Given the description of an element on the screen output the (x, y) to click on. 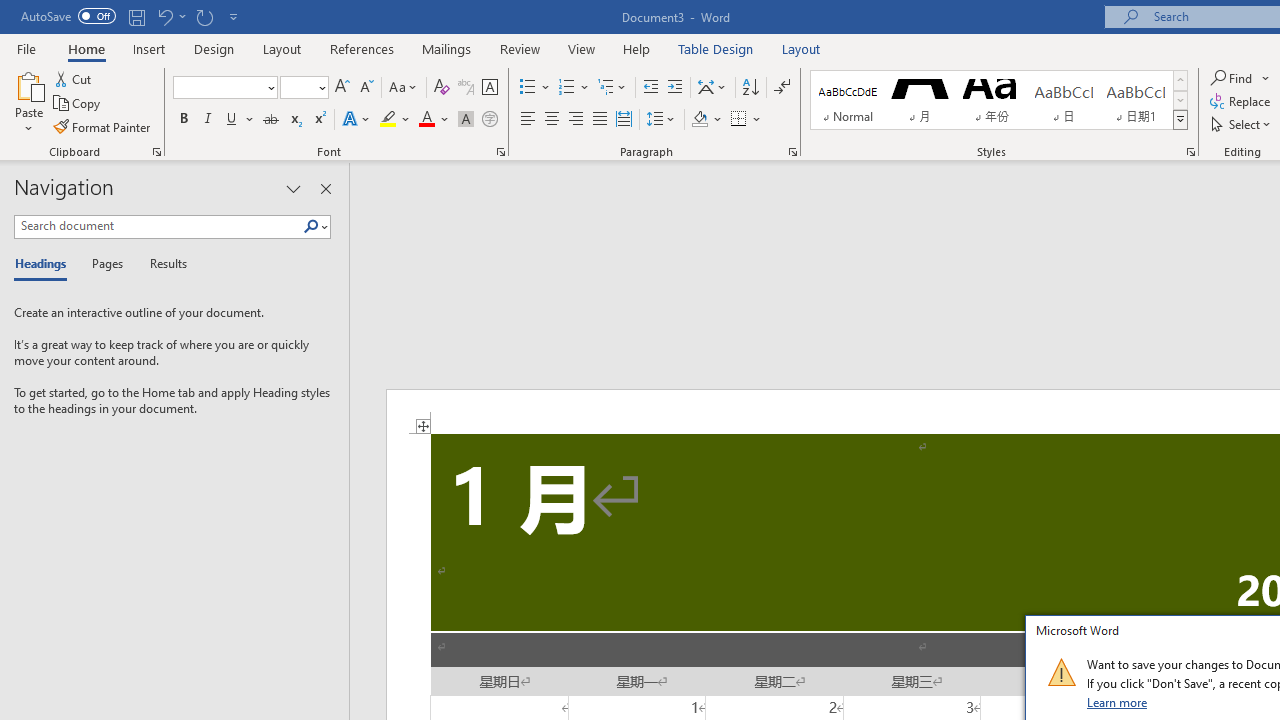
Font... (500, 151)
Superscript (319, 119)
Pages (105, 264)
Paragraph... (792, 151)
Paste (28, 102)
Shading RGB(0, 0, 0) (699, 119)
Design (214, 48)
Character Shading (465, 119)
Replace... (1242, 101)
Align Right (575, 119)
Table Design (715, 48)
File Tab (26, 48)
Headings (45, 264)
Office Clipboard... (156, 151)
